Given the description of an element on the screen output the (x, y) to click on. 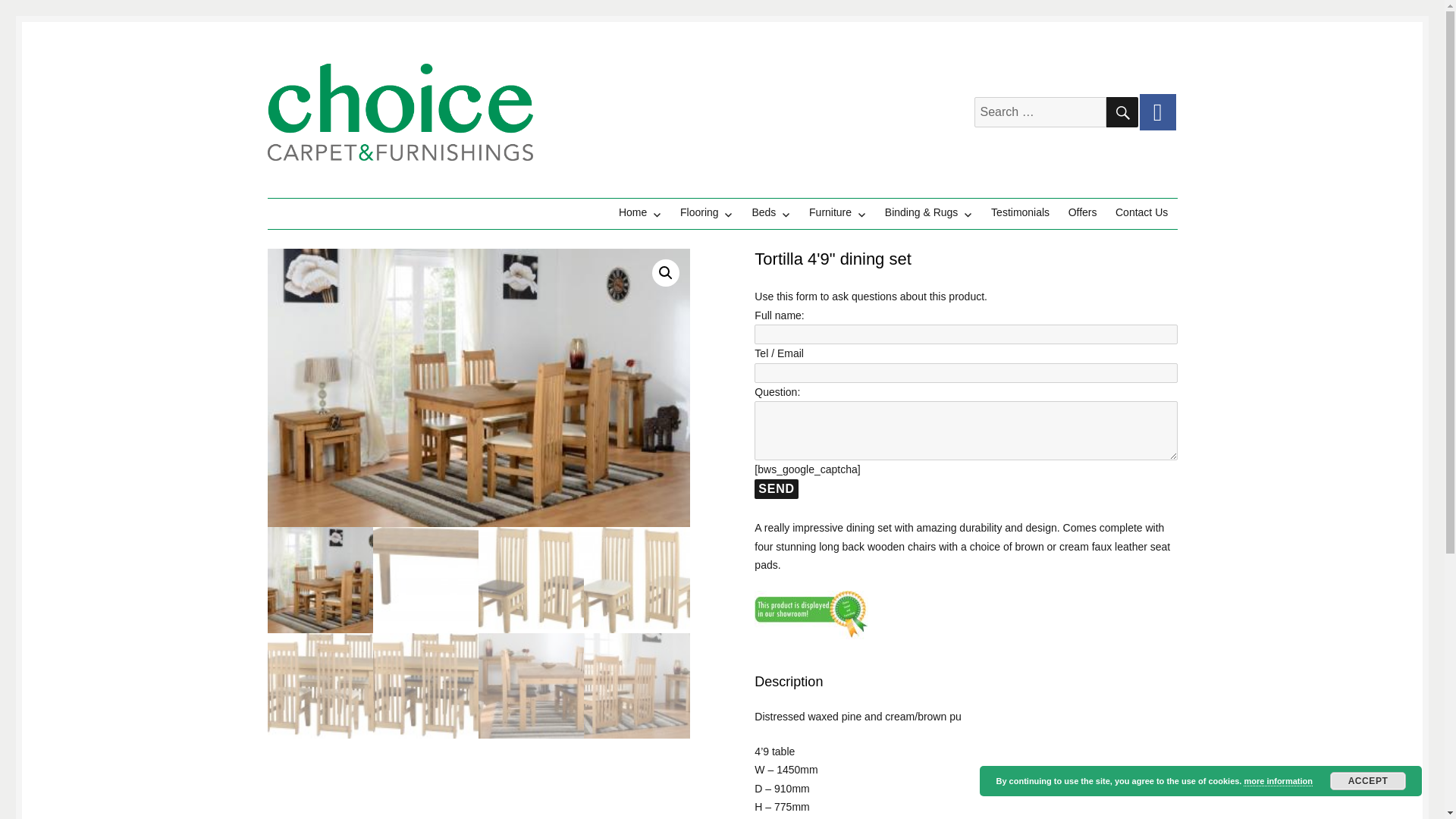
SEARCH (1121, 112)
facebook (1156, 112)
Testimonials (1020, 212)
Choice Furniture and Carpets (416, 184)
Home (640, 212)
send (775, 488)
Contact Us (1141, 212)
Furniture (837, 212)
Flooring (706, 212)
Beds (770, 212)
Offers (1081, 212)
